Given the description of an element on the screen output the (x, y) to click on. 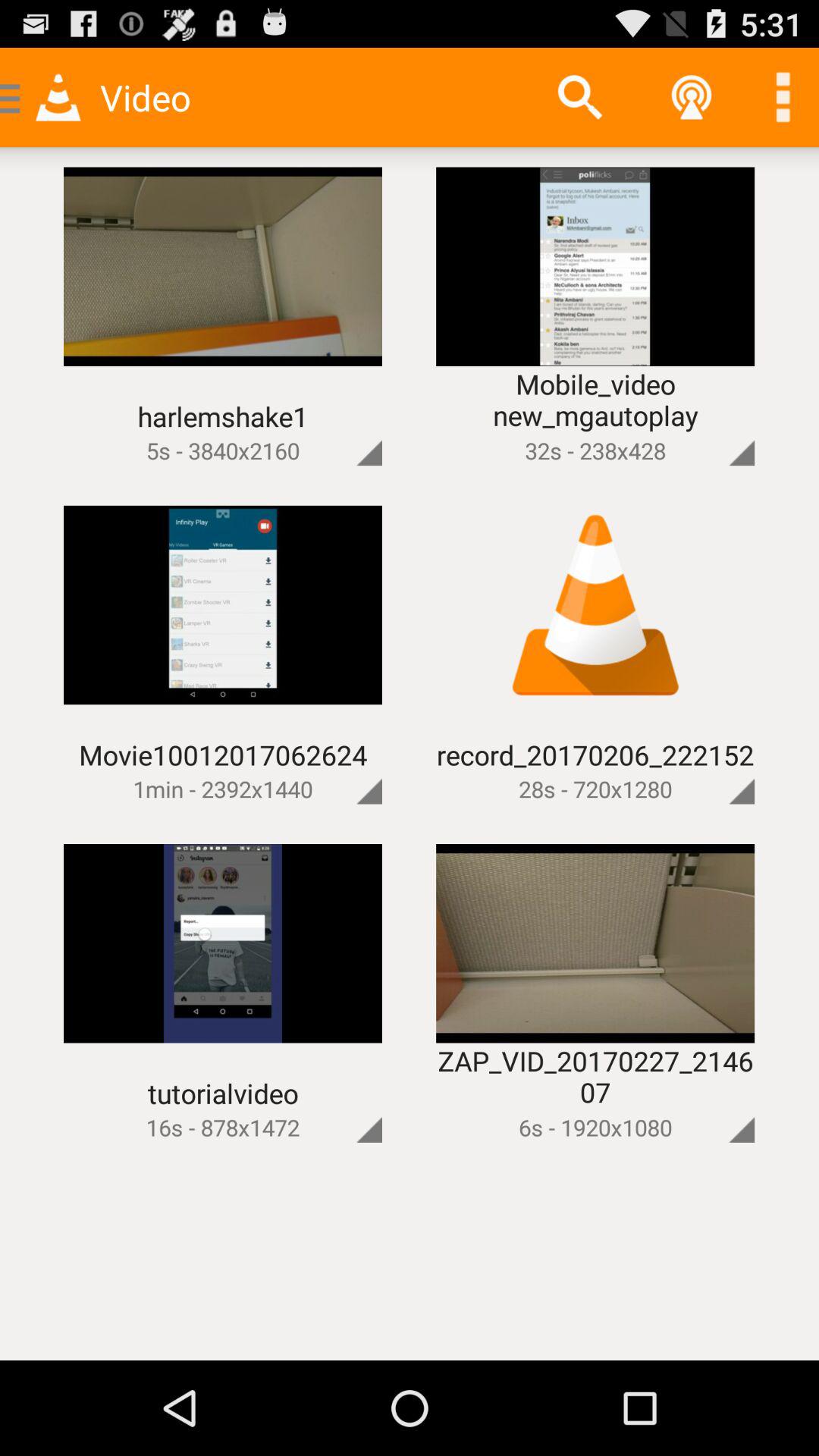
open action menu (343, 427)
